Given the description of an element on the screen output the (x, y) to click on. 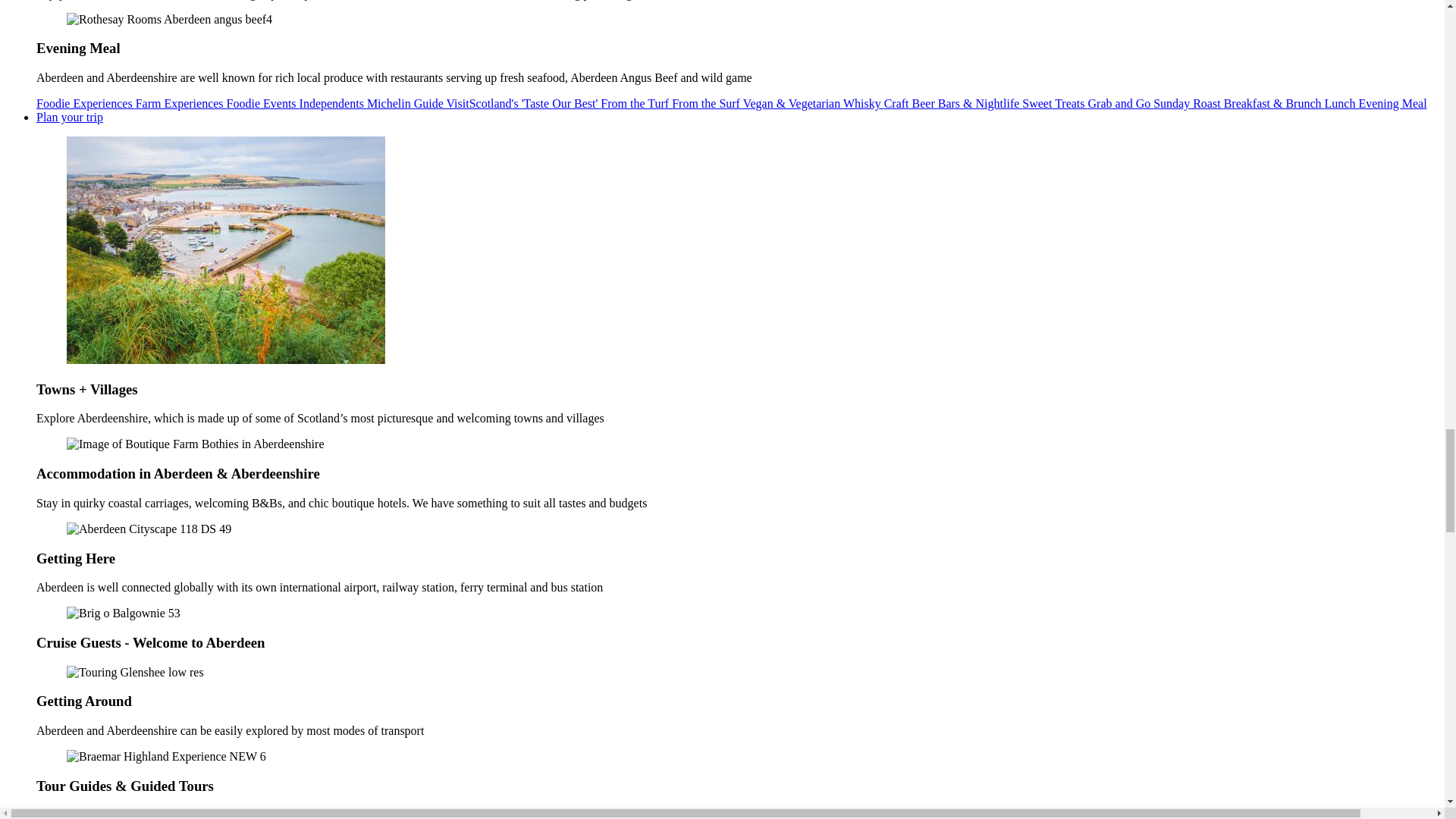
Whisky (863, 103)
Foodie Experiences (85, 103)
Craft Beer (910, 103)
From the Surf (706, 103)
From the Turf (635, 103)
VisitScotland's 'Taste Our Best' (522, 103)
Foodie Events (263, 103)
Sweet Treats (1054, 103)
Independents (332, 103)
Grab and Go (1120, 103)
